Given the description of an element on the screen output the (x, y) to click on. 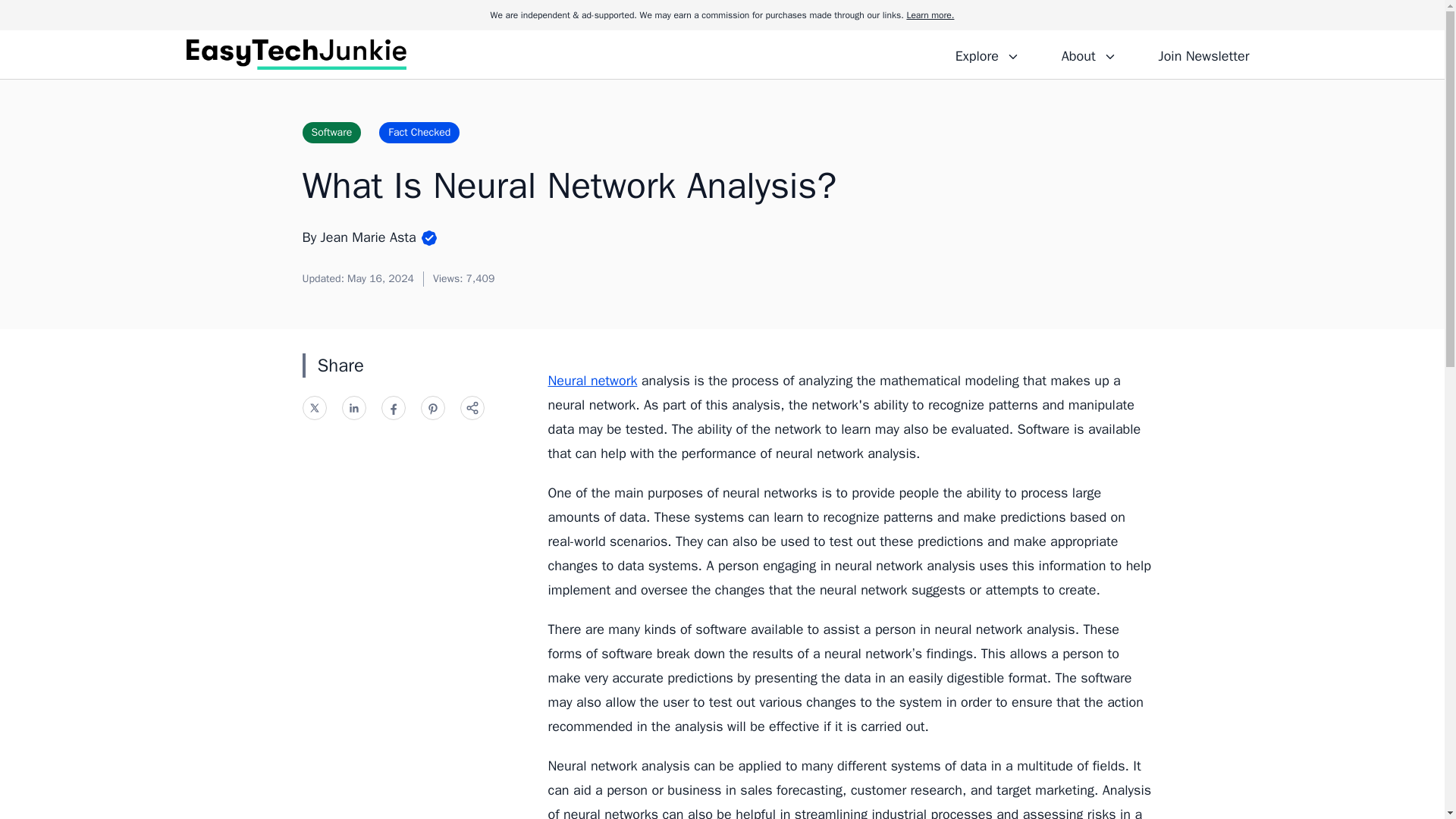
Learn more. (929, 15)
Neural network (592, 380)
Join Newsletter (1202, 54)
Software (331, 132)
Explore (986, 54)
Fact Checked (419, 132)
About (1088, 54)
